Given the description of an element on the screen output the (x, y) to click on. 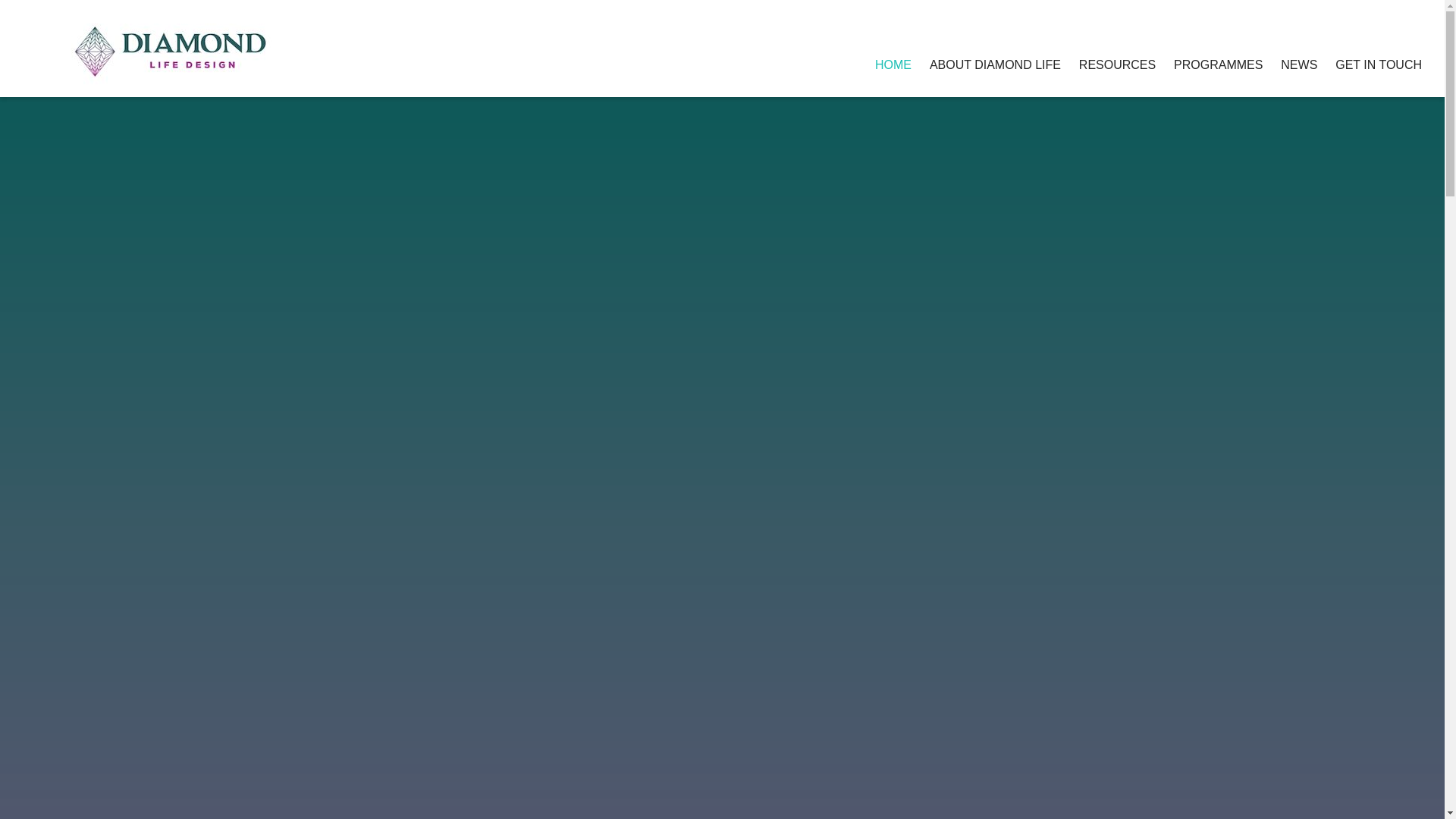
HOME (893, 66)
PROGRAMMES (1217, 66)
RESOURCES (1117, 66)
ABOUT DIAMOND LIFE (995, 66)
NEWS (1299, 66)
GET IN TOUCH (1378, 66)
